Given the description of an element on the screen output the (x, y) to click on. 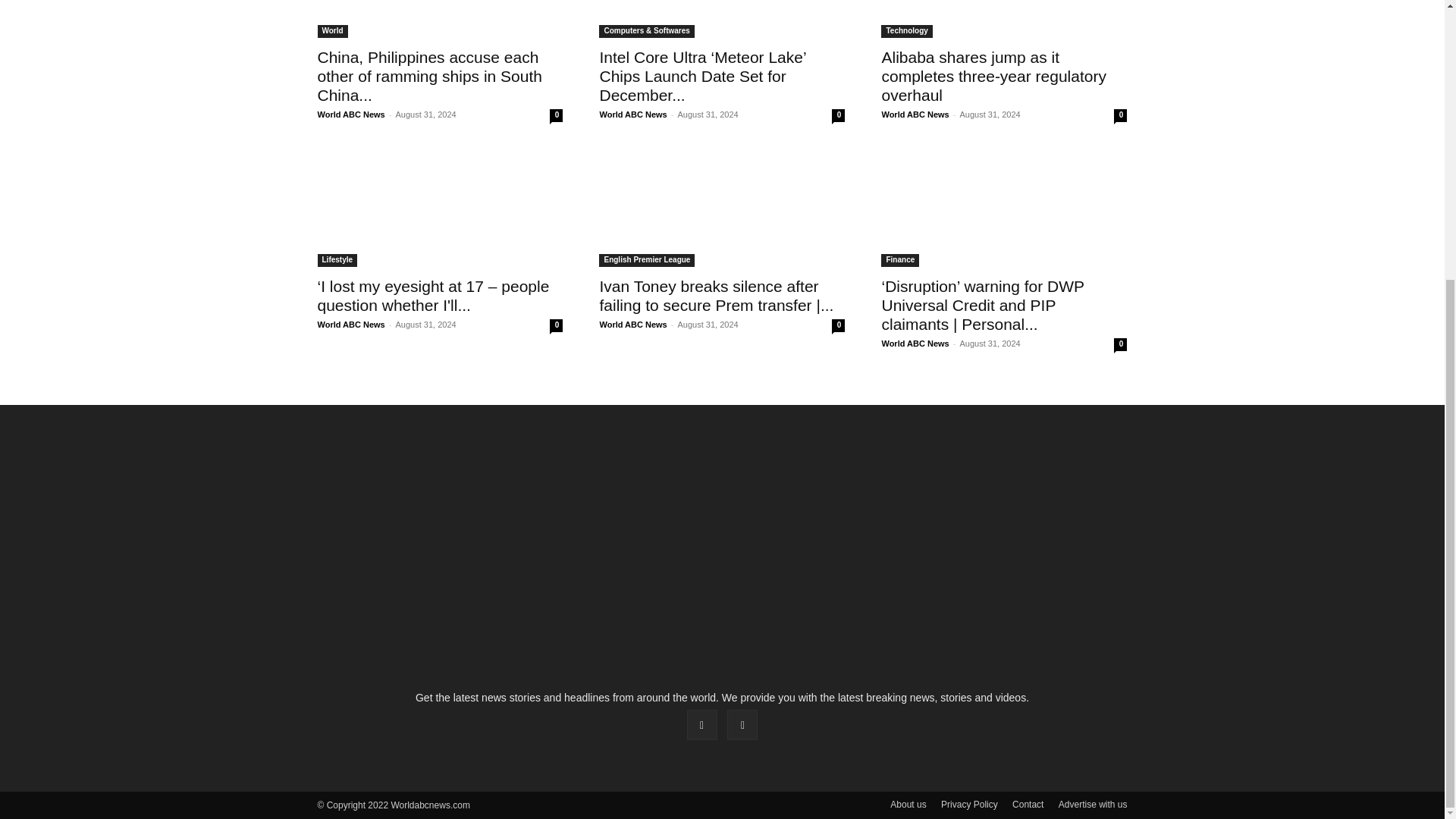
World ABC News (632, 113)
0 (837, 115)
World ABC News (350, 113)
World (332, 31)
0 (556, 115)
